Given the description of an element on the screen output the (x, y) to click on. 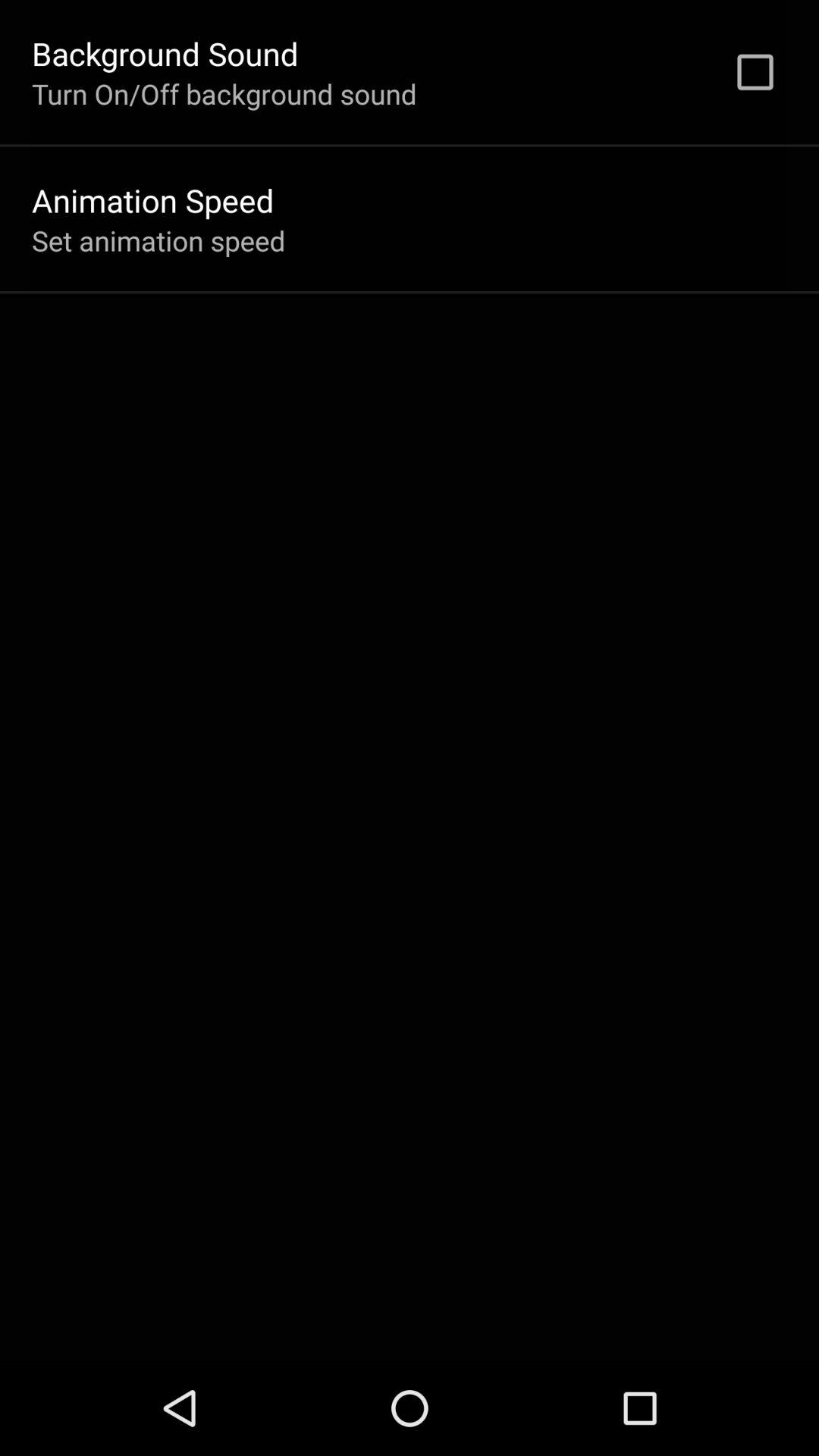
launch icon below the background sound app (223, 93)
